Given the description of an element on the screen output the (x, y) to click on. 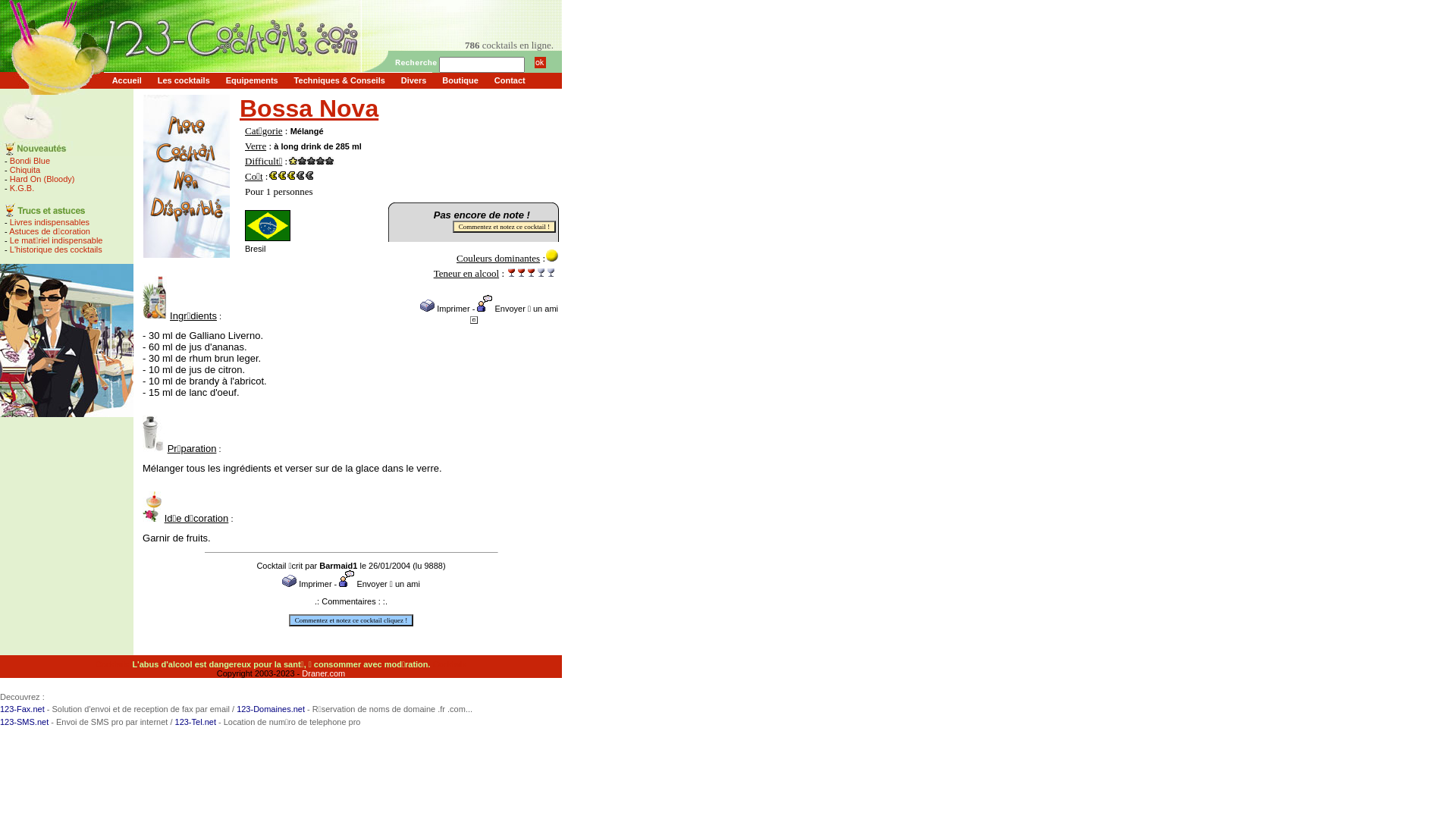
Les cocktails Element type: text (183, 80)
L'historique des cocktails Element type: text (55, 249)
Divers Element type: text (413, 80)
123-Domaines.net Element type: text (270, 708)
Livres indispensables Element type: text (49, 221)
123-SMS.net Element type: text (24, 721)
Boutique Element type: text (460, 80)
Equipements Element type: text (251, 80)
Commentez et notez ce cocktail cliquez ! Element type: text (350, 620)
Contact Element type: text (509, 80)
Imprimer Element type: text (444, 308)
Barmaid1 Element type: text (338, 565)
Chiquita Element type: text (24, 169)
123-Fax.net Element type: text (22, 708)
K.G.B. Element type: text (21, 187)
Accueil Element type: text (126, 80)
Bondi Blue Element type: text (29, 160)
Imprimer Element type: text (306, 583)
Draner.com Element type: text (323, 672)
Commentez et notez ce cocktail ! Element type: text (503, 226)
Techniques & Conseils Element type: text (338, 80)
Hard On (Bloody) Element type: text (42, 178)
Cocktails Element type: text (450, 663)
123-Tel.net Element type: text (195, 721)
Cocktails Element type: text (112, 663)
